Given the description of an element on the screen output the (x, y) to click on. 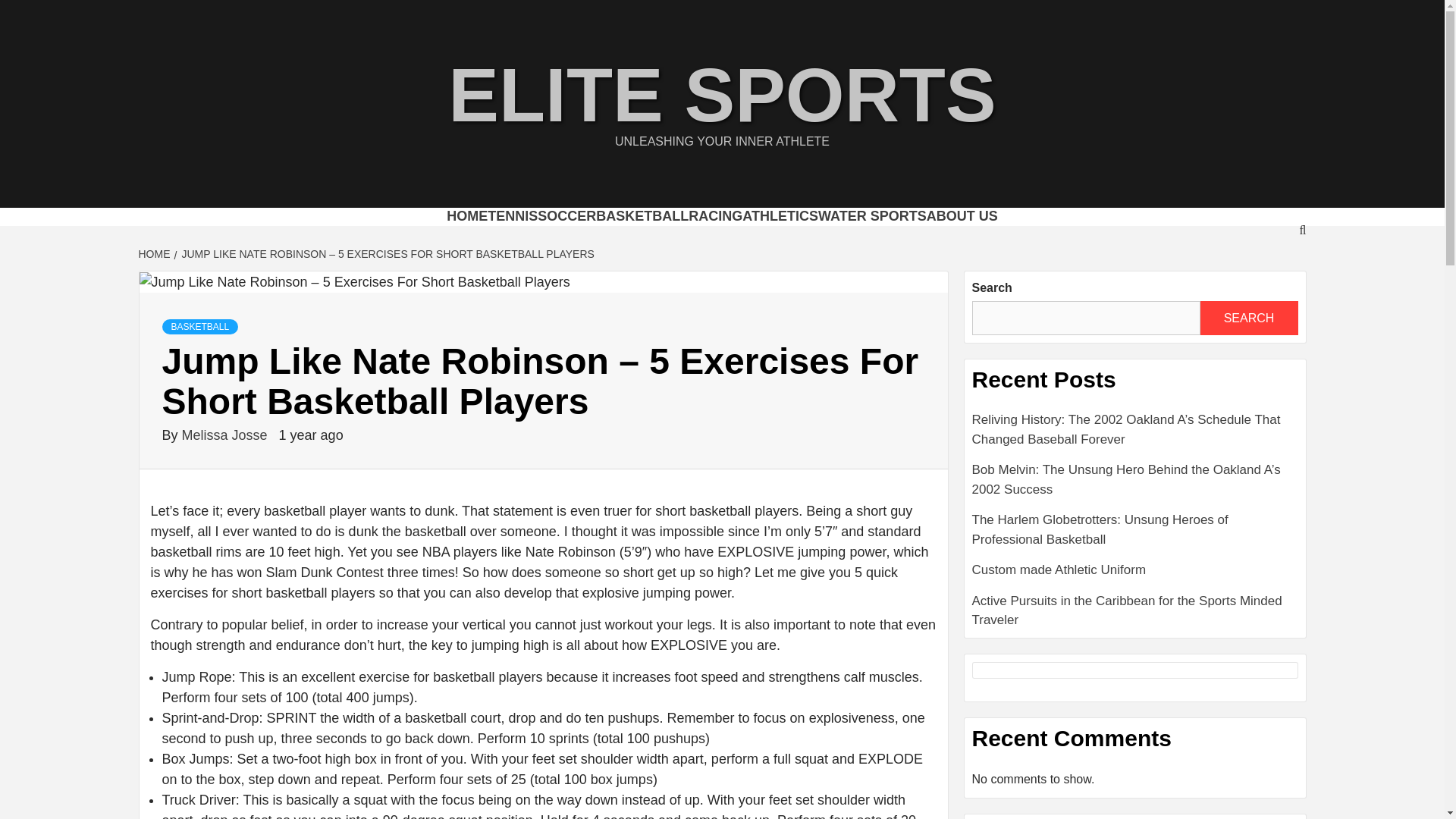
HOME (378, 231)
TENNIS (446, 231)
Custom made Athletic Uniform (1135, 604)
SOCCER (523, 231)
ABOUT US (1041, 231)
BASKETBALL (621, 231)
SEARCH (1248, 347)
Melissa Josse (226, 465)
BASKETBALL (199, 355)
